Given the description of an element on the screen output the (x, y) to click on. 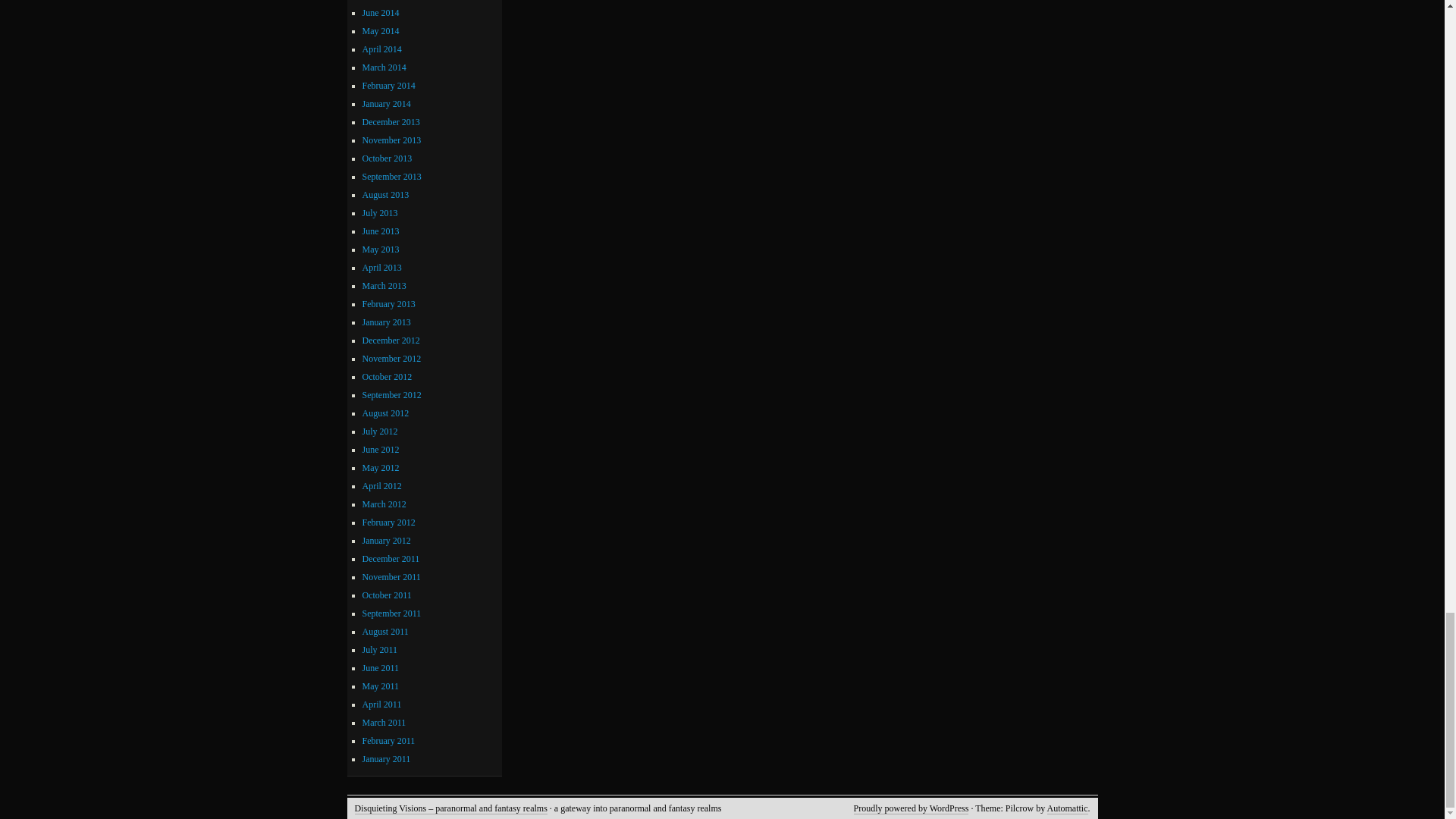
A Semantic Personal Publishing Platform (911, 808)
